Given the description of an element on the screen output the (x, y) to click on. 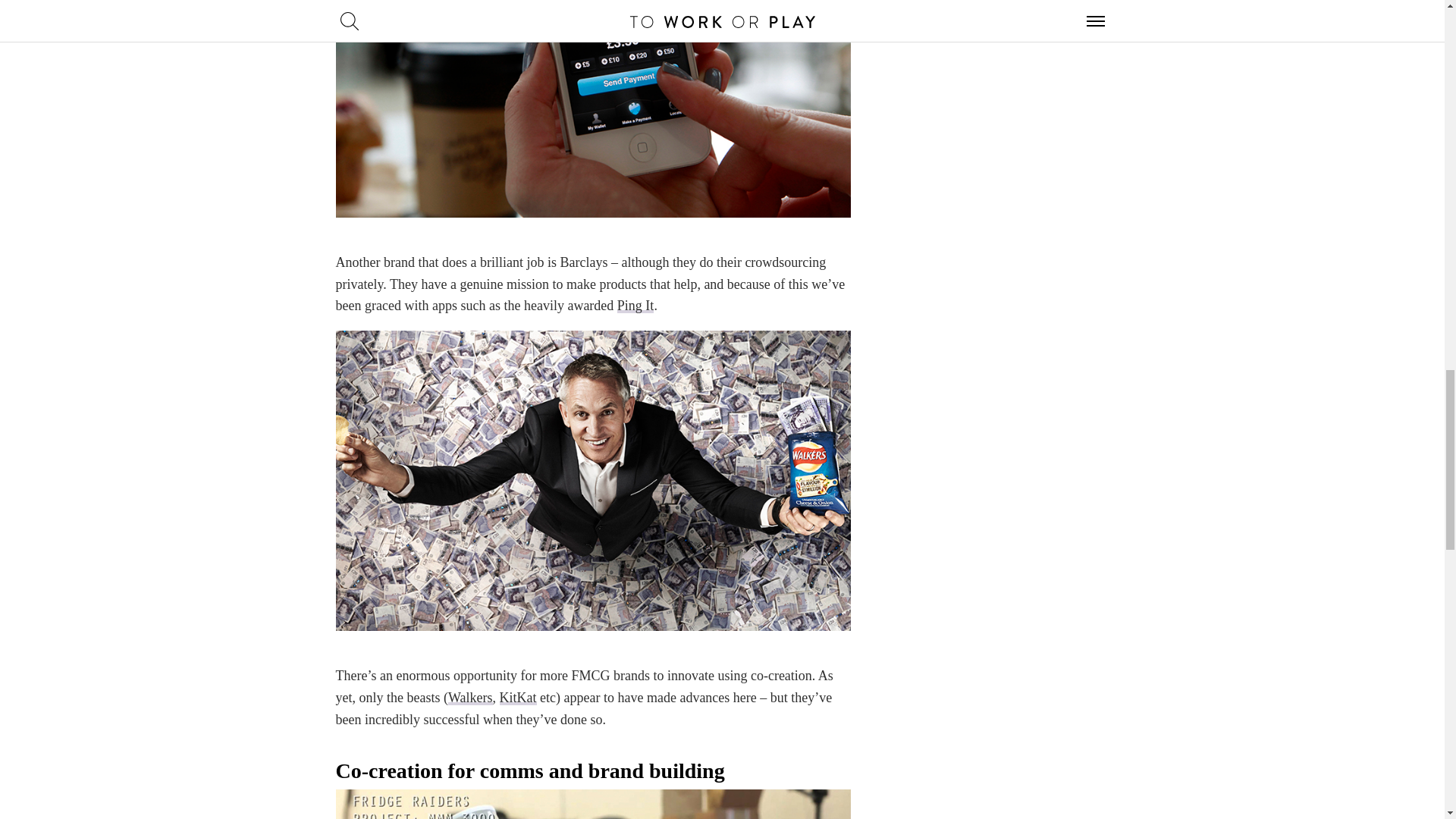
KitKat (517, 697)
Walkers (470, 697)
Ping It (635, 305)
